Given the description of an element on the screen output the (x, y) to click on. 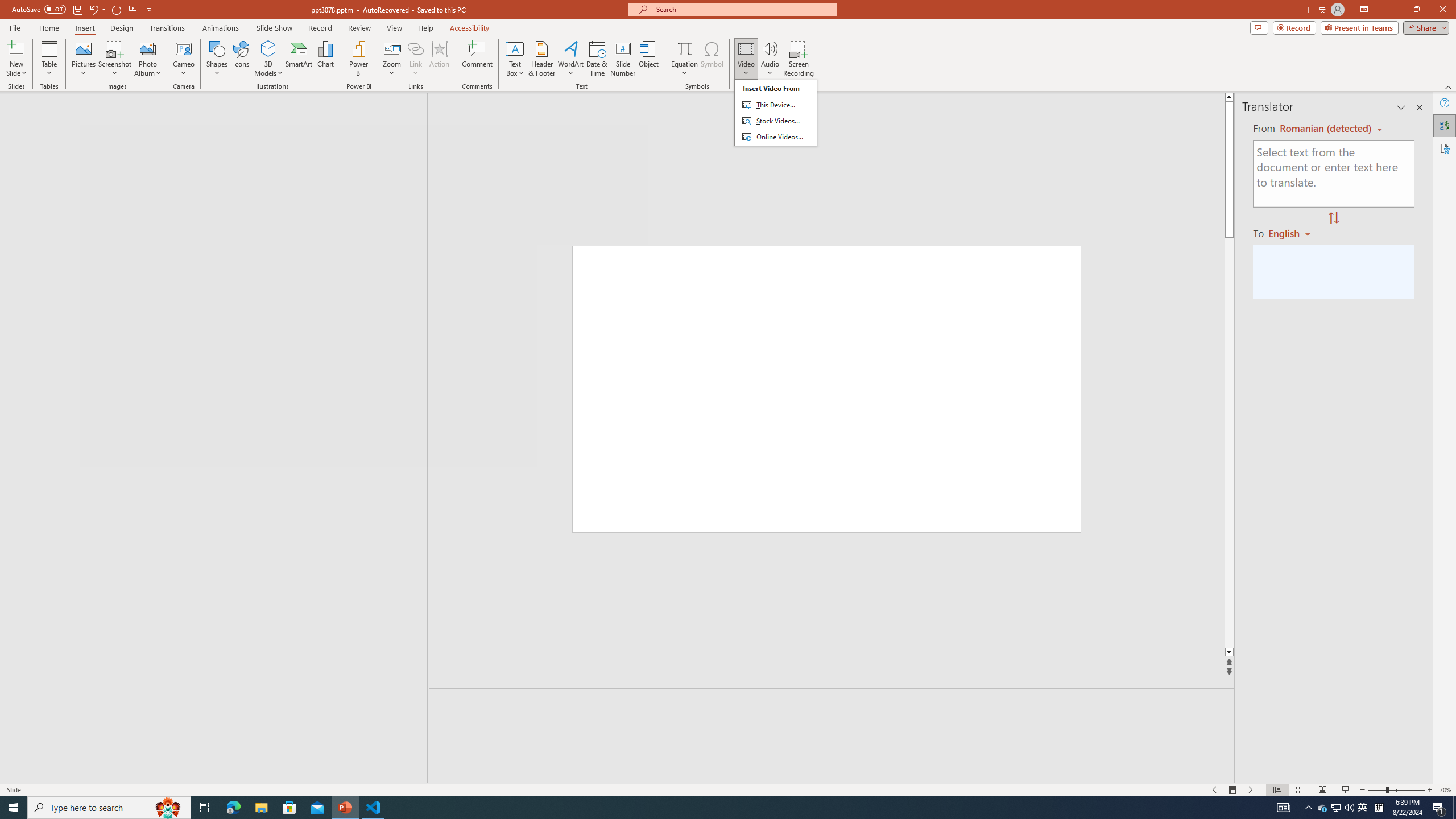
3D Models (268, 58)
Action Center, 1 new notification (1439, 807)
Microsoft Edge (233, 807)
Swap "from" and "to" languages. (1333, 218)
